Given the description of an element on the screen output the (x, y) to click on. 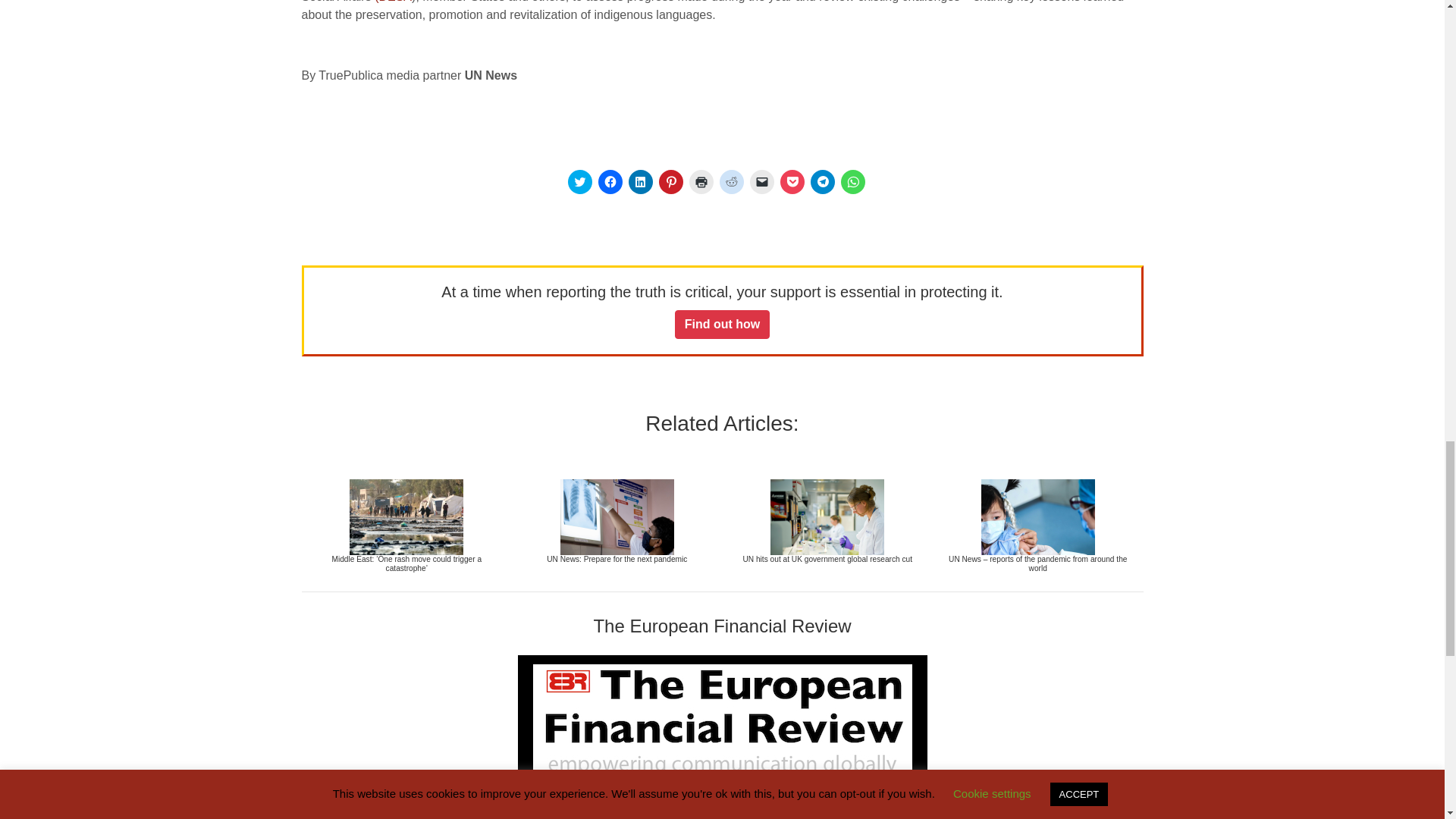
Find out how (722, 324)
Click to share on WhatsApp (852, 181)
Click to share on Pinterest (670, 181)
Click to email a link to a friend (761, 181)
Click to share on Pocket (790, 181)
Click to share on Facebook (608, 181)
Click to share on Telegram (821, 181)
Got to European financial review website (721, 720)
Click to print (700, 181)
Click to share on Reddit (730, 181)
